Given the description of an element on the screen output the (x, y) to click on. 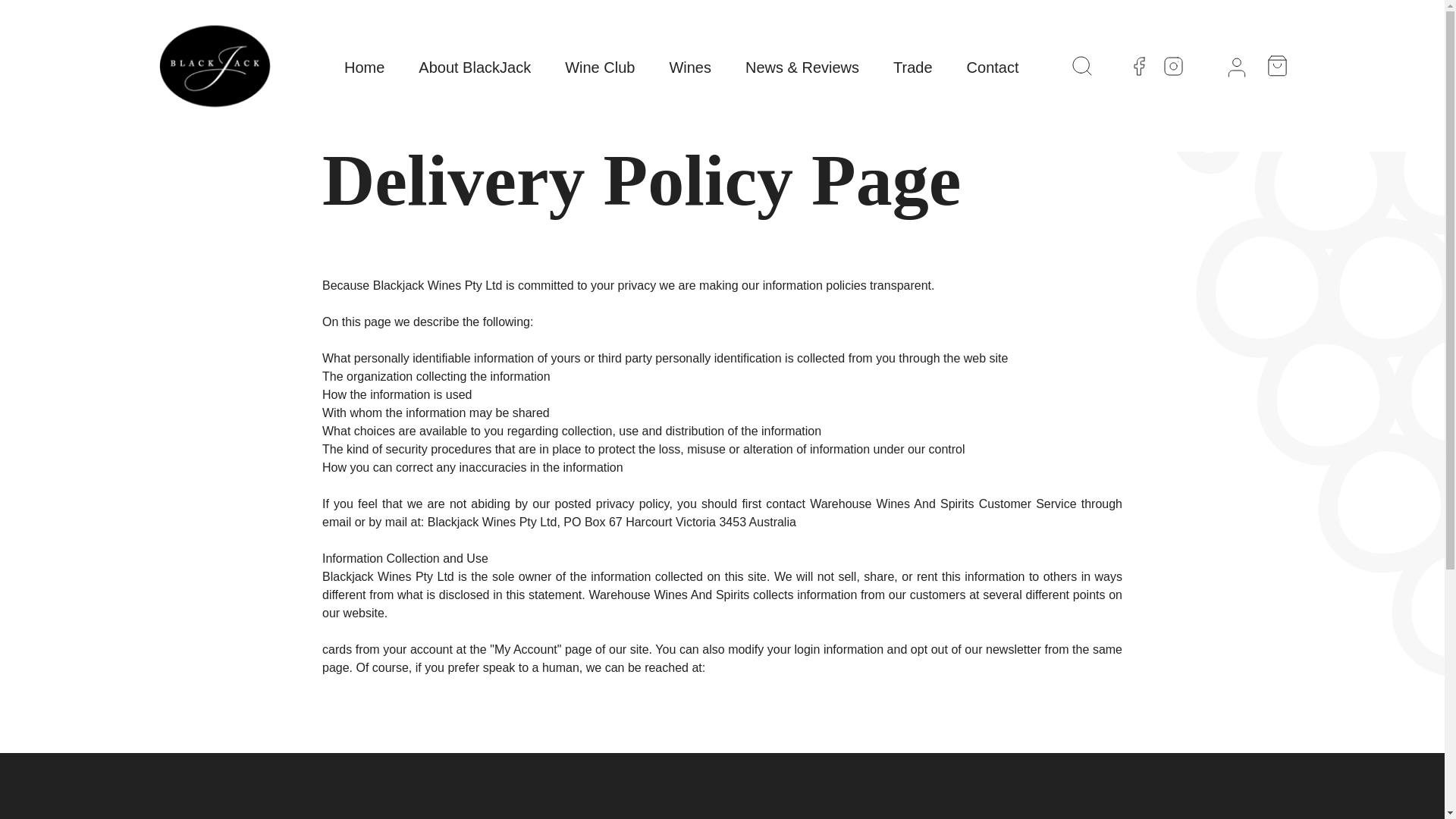
About BlackJack (475, 67)
Home (363, 67)
Wines (689, 67)
Contact (992, 67)
Wine Club (599, 67)
Trade (913, 67)
